Given the description of an element on the screen output the (x, y) to click on. 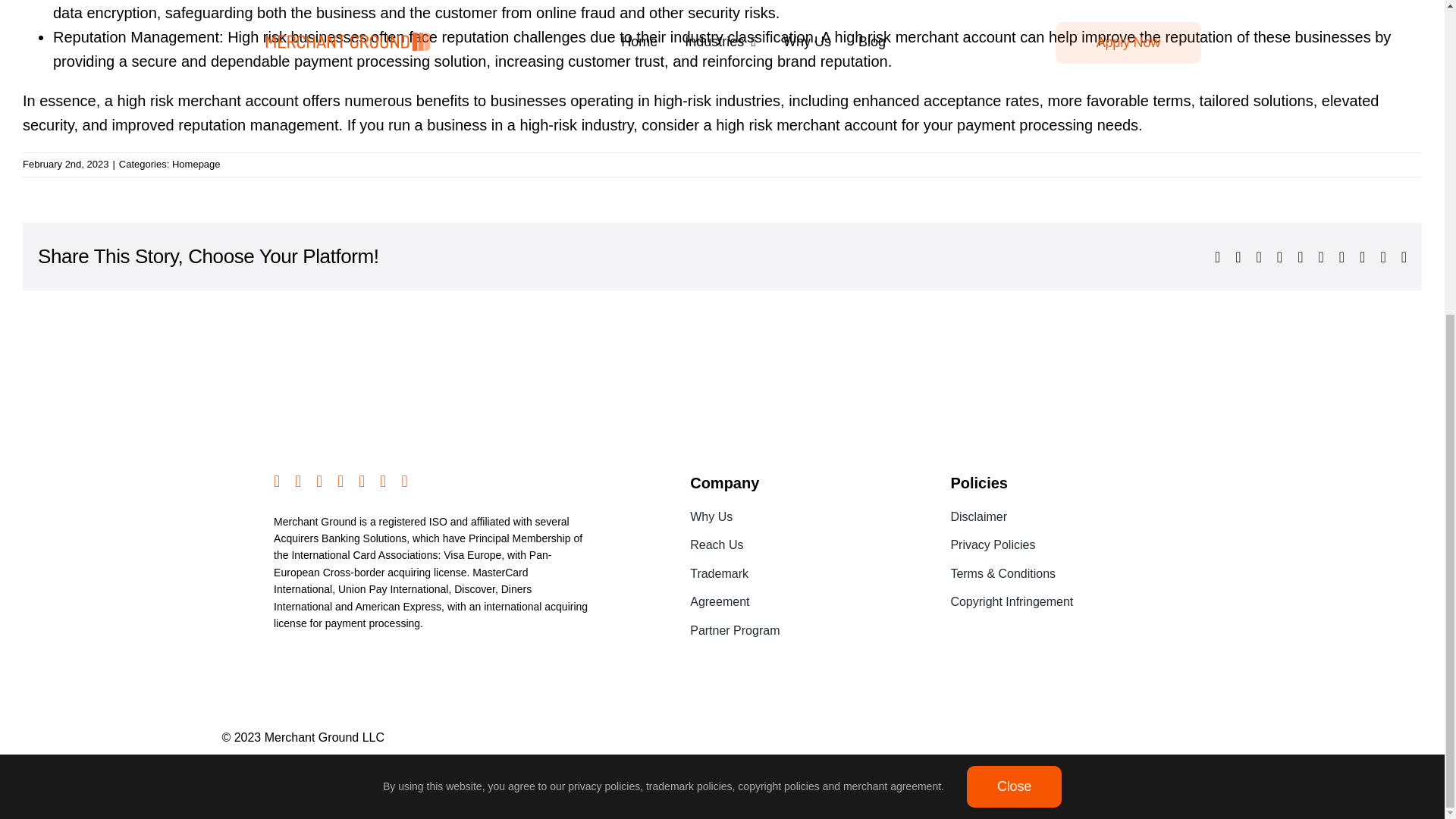
Partner Program (800, 630)
Trademark (800, 573)
Why Us (800, 516)
Reach Us (800, 545)
Disclaimer (1060, 516)
Agreement (800, 601)
Homepage (196, 163)
Privacy Policies (1060, 545)
